Given the description of an element on the screen output the (x, y) to click on. 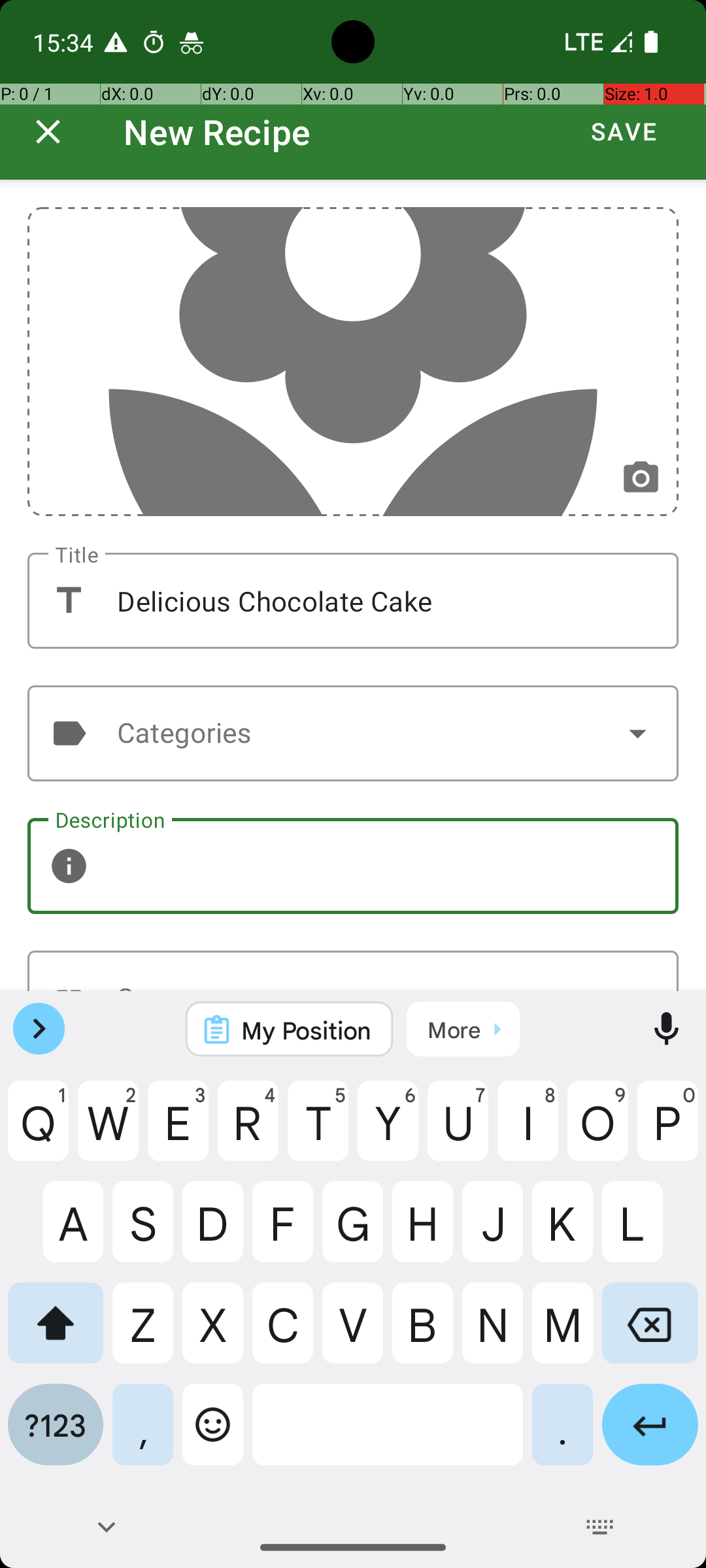
Delicious Chocolate Cake Element type: android.widget.EditText (352, 600)
Source Element type: android.widget.EditText (352, 970)
My Position Element type: android.widget.TextView (306, 1029)
